Given the description of an element on the screen output the (x, y) to click on. 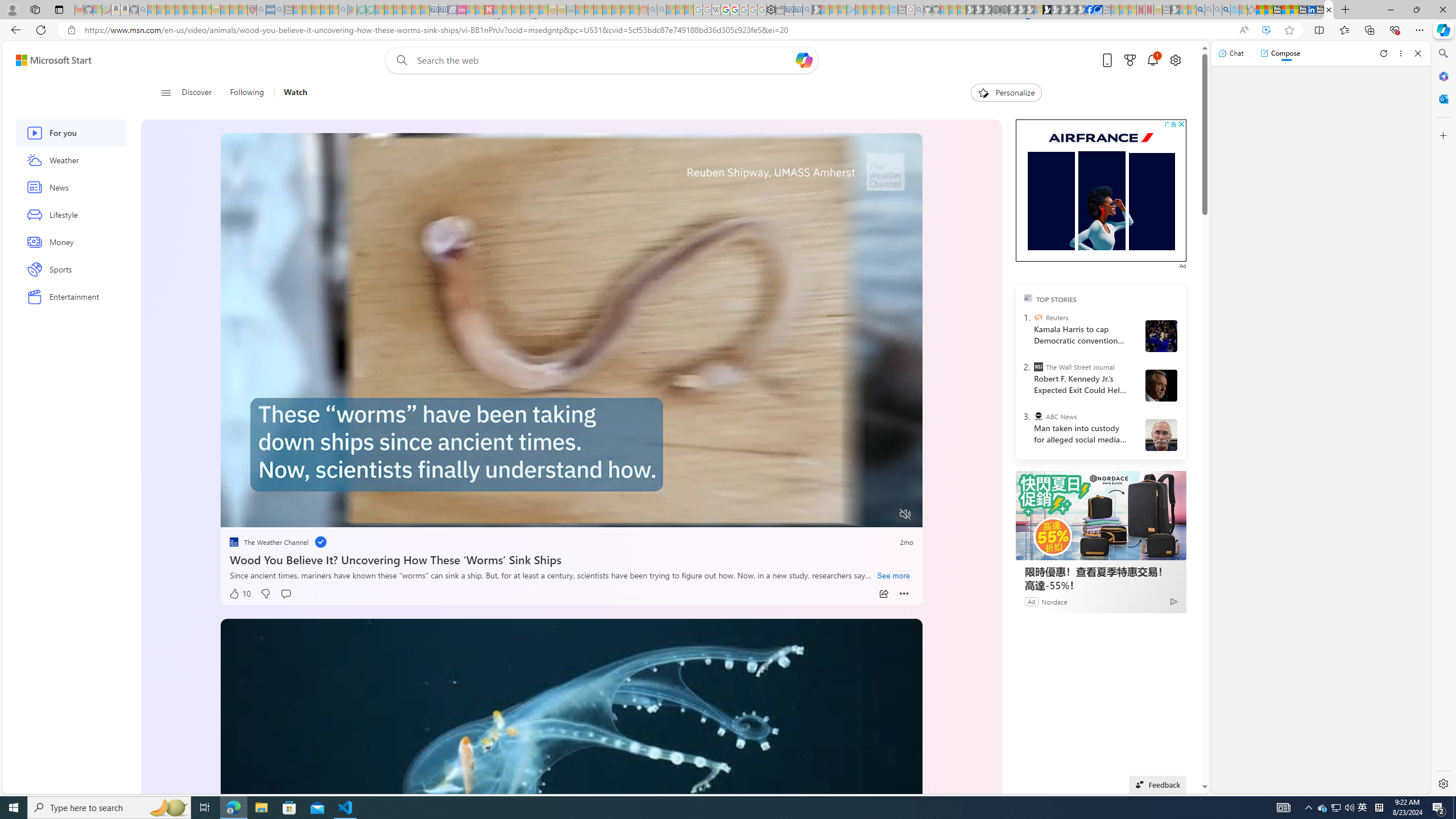
Local - MSN - Sleeping (242, 9)
Open settings (1175, 60)
Enhance video (1266, 29)
AutomationID: cbb (1181, 124)
Enter your search term (603, 59)
